Given the description of an element on the screen output the (x, y) to click on. 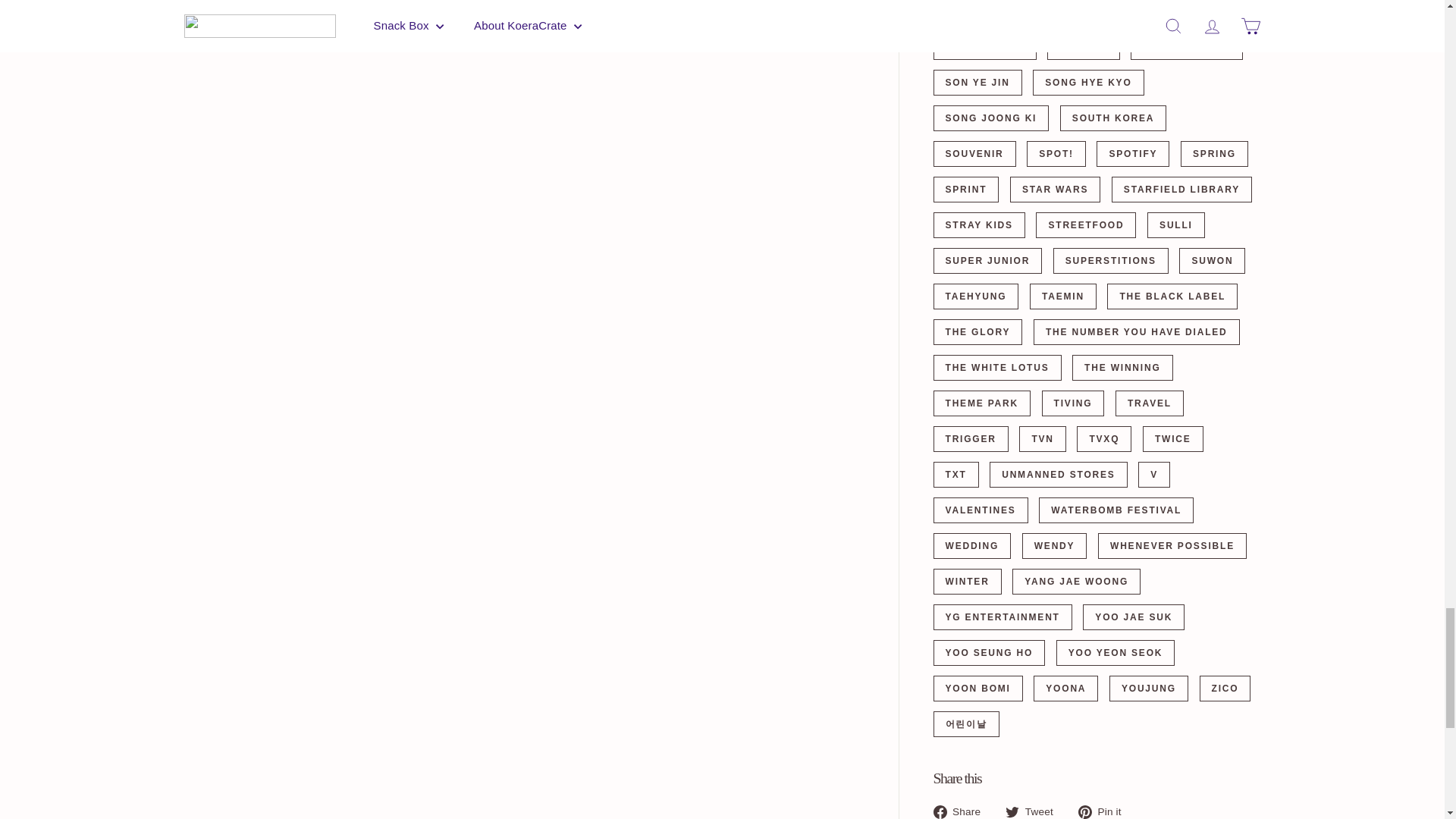
Tweet on Twitter (1035, 810)
twitter (1012, 812)
Pin on Pinterest (1105, 810)
Share on Facebook (962, 810)
